Given the description of an element on the screen output the (x, y) to click on. 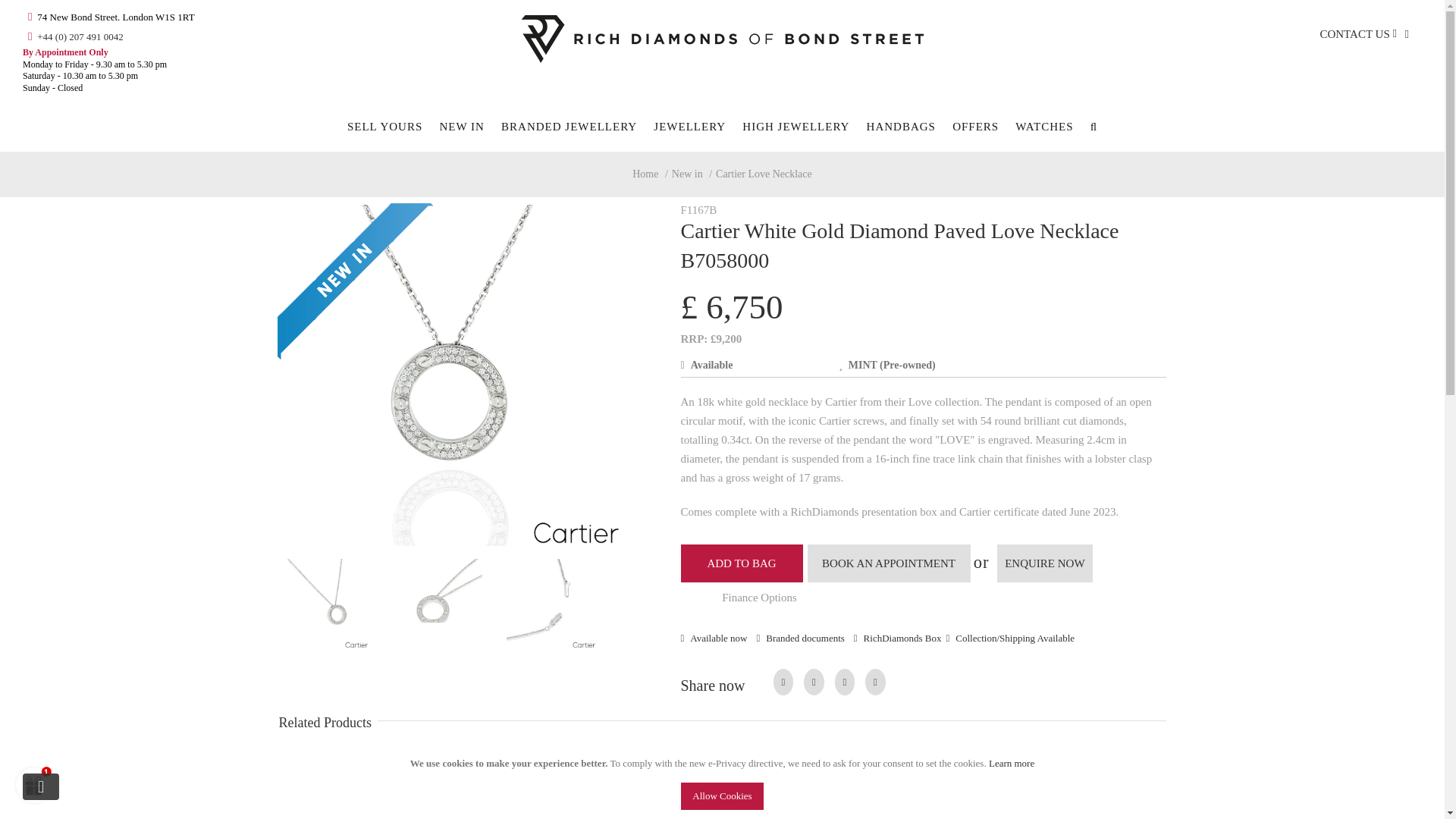
Cartier White Gold Diamond Paved Love Necklace B7058000 (449, 215)
Cartier White Gold Diamond Paved Love Necklace B7058000 (550, 603)
BRANDED JEWELLERY (568, 126)
NEW IN (461, 126)
SELL YOURS (384, 126)
Cartier White Gold Diamond Paved Love Necklace B7058000 (563, 606)
Cartier White Gold Diamond Paved Love Necklace B7058000 (323, 603)
Cartier White Gold Diamond Paved Love Necklace B7058000 (449, 606)
CONTACT US (1354, 33)
Cartier White Gold Diamond Paved Love Necklace B7058000 (437, 603)
Cartier White Gold Diamond Paved Love Necklace B7058000 (449, 375)
Cartier White Gold Diamond Paved Love Necklace B7058000 (336, 606)
